Given the description of an element on the screen output the (x, y) to click on. 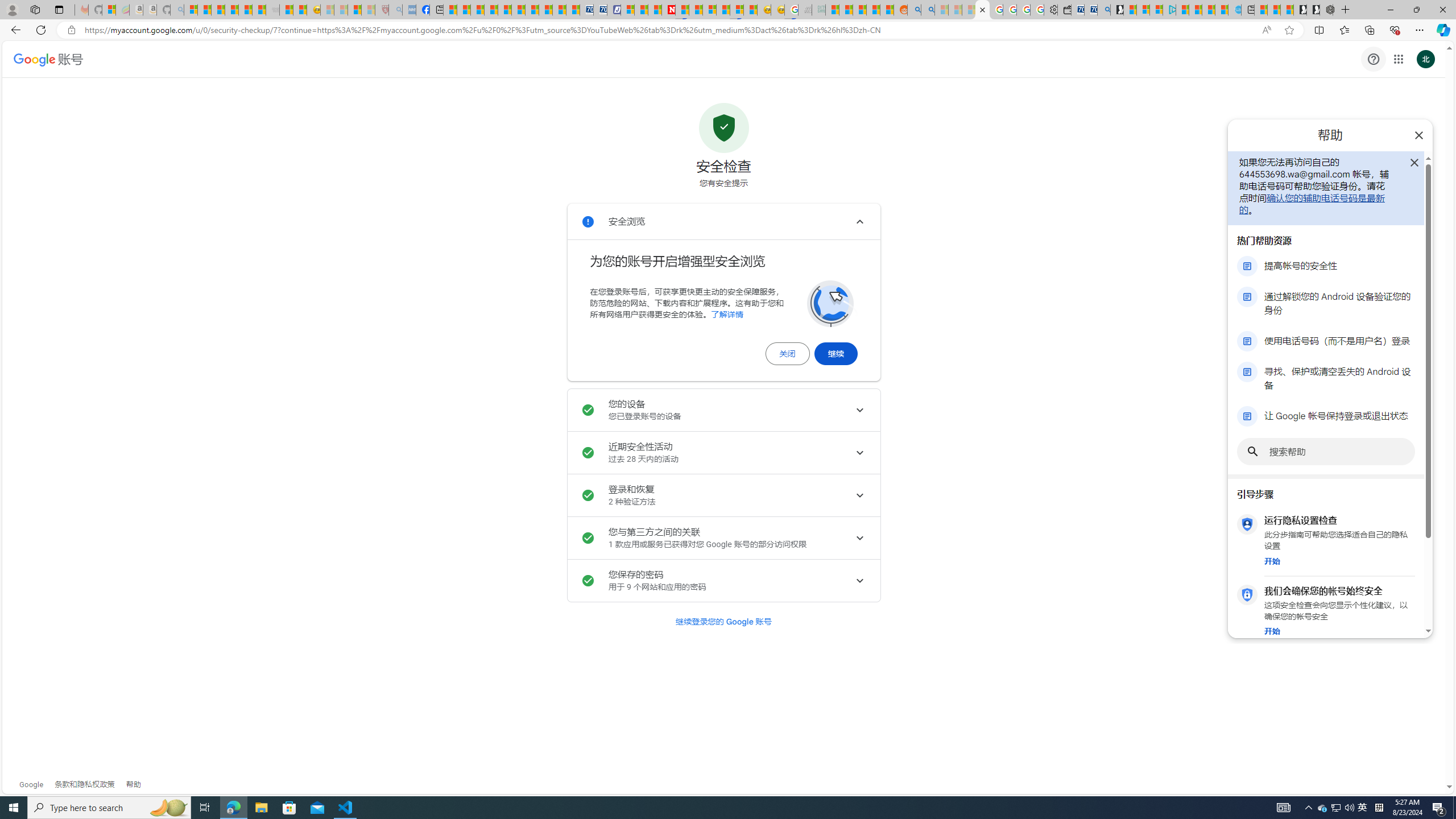
World - MSN (477, 9)
The Weather Channel - MSN (218, 9)
Trusted Community Engagement and Contributions | Guidelines (682, 9)
New Report Confirms 2023 Was Record Hot | Watch (245, 9)
